Given the description of an element on the screen output the (x, y) to click on. 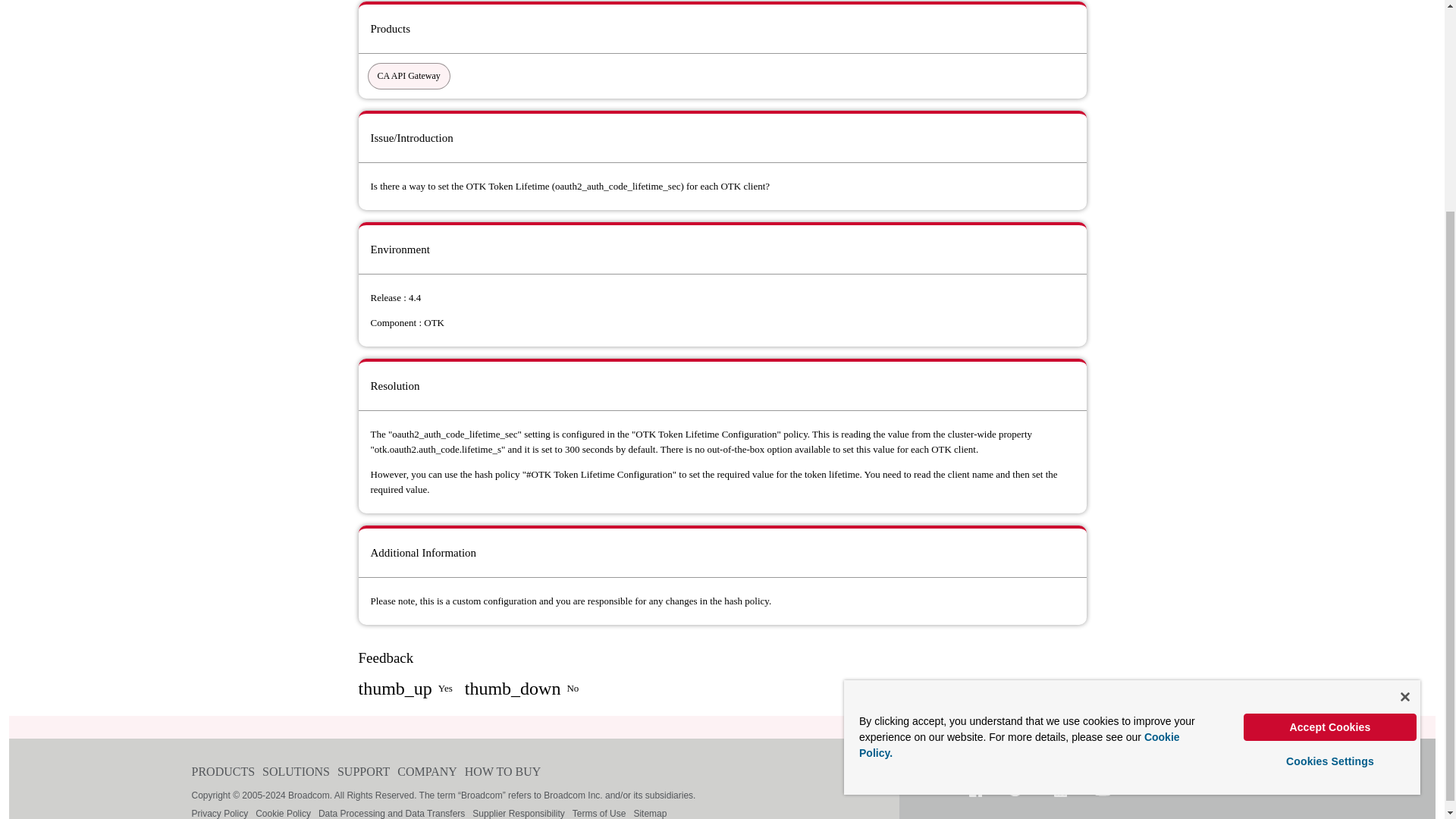
Cookies Settings (1329, 483)
Cookie Policy. (1019, 466)
Accept Cookies (1329, 448)
